Given the description of an element on the screen output the (x, y) to click on. 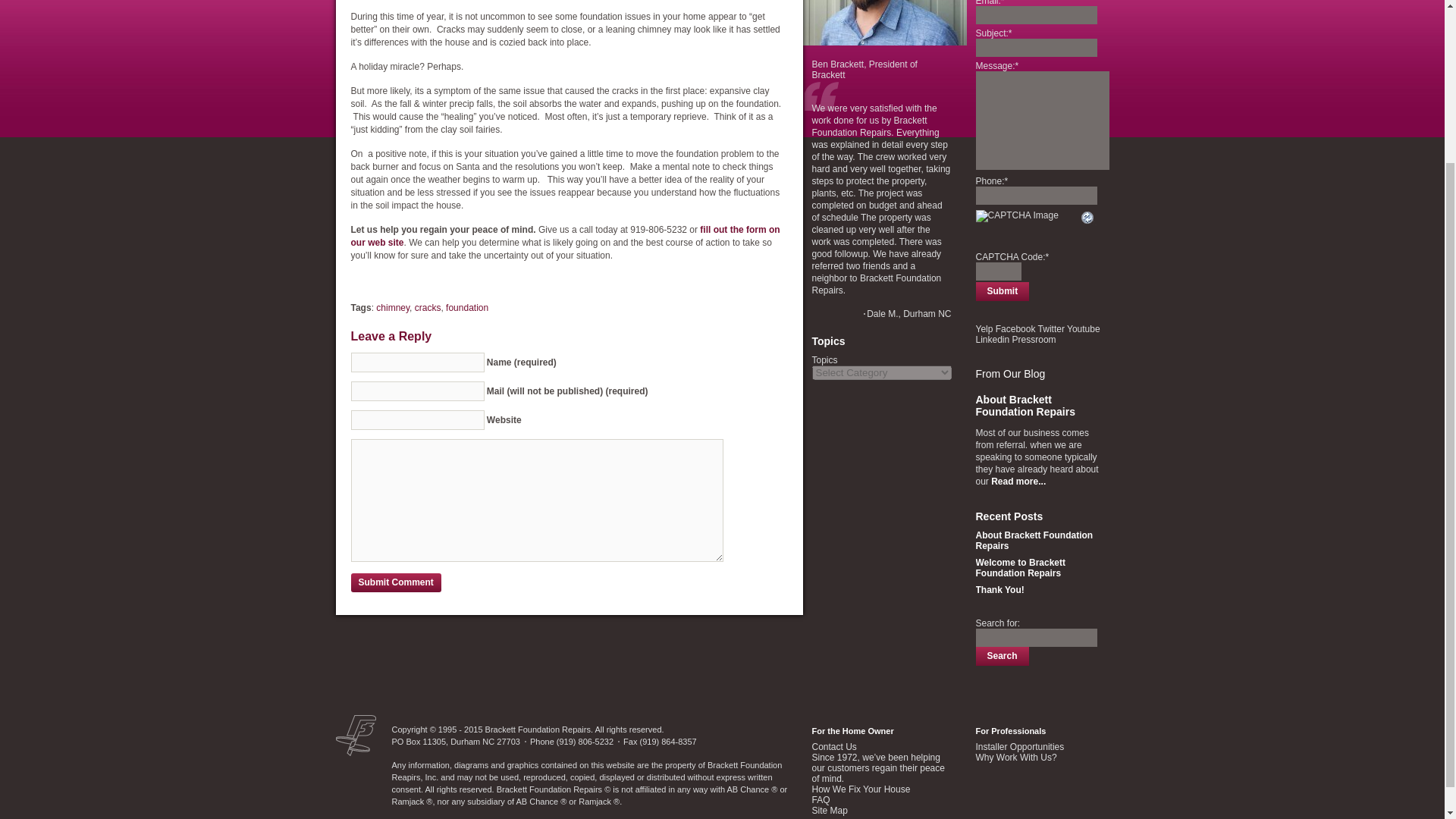
Submit (1002, 291)
Submit Comment (395, 582)
cracks (427, 307)
How We Fix Your House (860, 788)
Why Work With Us? (1016, 757)
Site Map (828, 810)
Thank You! (999, 589)
Search (1001, 656)
About Brackett Foundation Repairs (1024, 405)
About Brackett Foundation Repairs (1034, 540)
Contact Us (564, 236)
Contact Us (833, 747)
fill out the form on our web site (564, 236)
FAQ (819, 799)
chimney (392, 307)
